Given the description of an element on the screen output the (x, y) to click on. 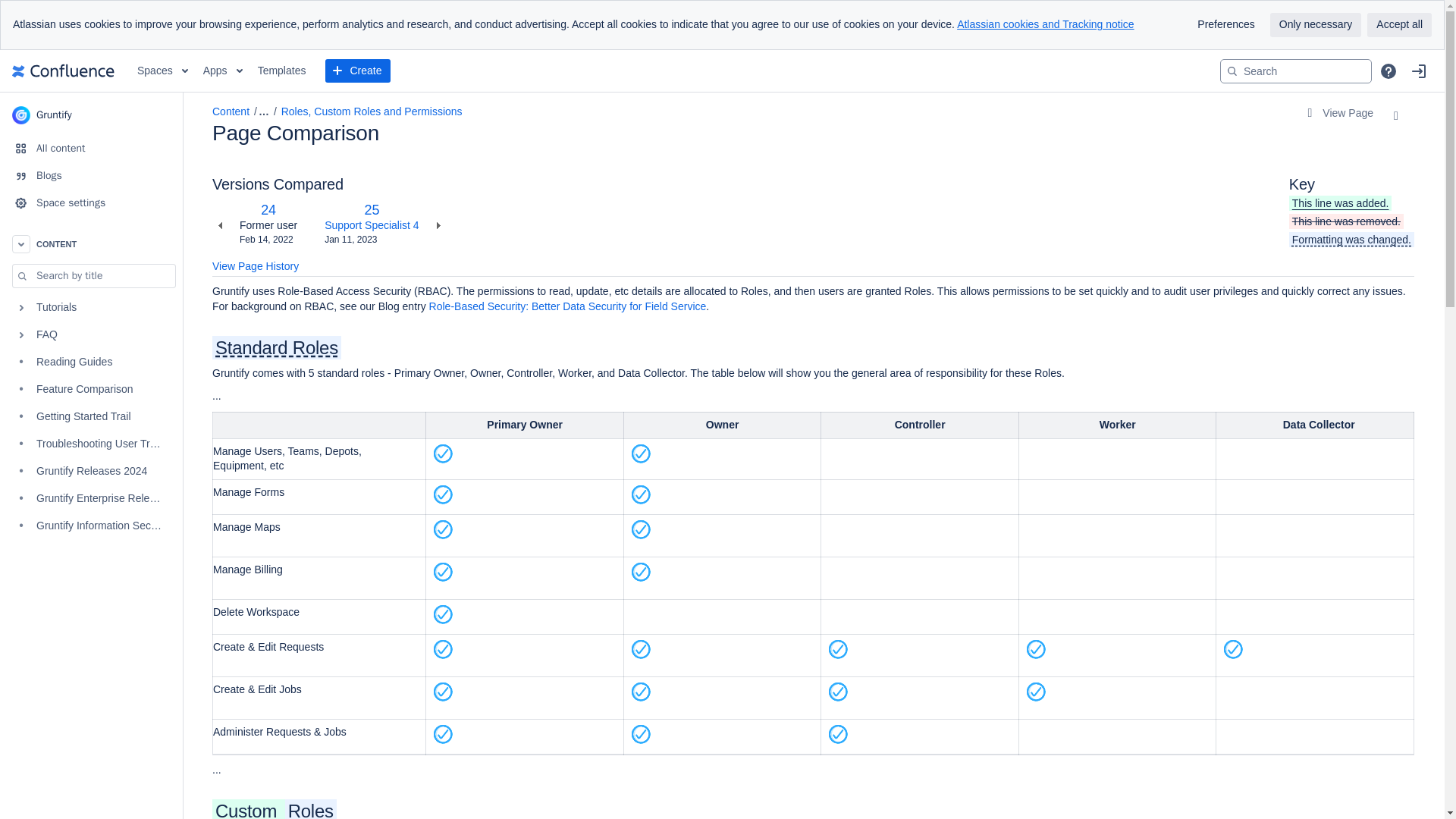
All content (90, 148)
Blogs (90, 175)
Accept all (1399, 24)
View Page (1339, 113)
Space settings (90, 203)
Apps (222, 70)
Show all breadcrumbs (258, 111)
Gruntify (90, 114)
Only necessary (1315, 24)
Preferences (1225, 24)
Create (357, 70)
FAQ (90, 334)
Tutorials (90, 307)
CONTENT (90, 243)
Spaces (162, 70)
